Given the description of an element on the screen output the (x, y) to click on. 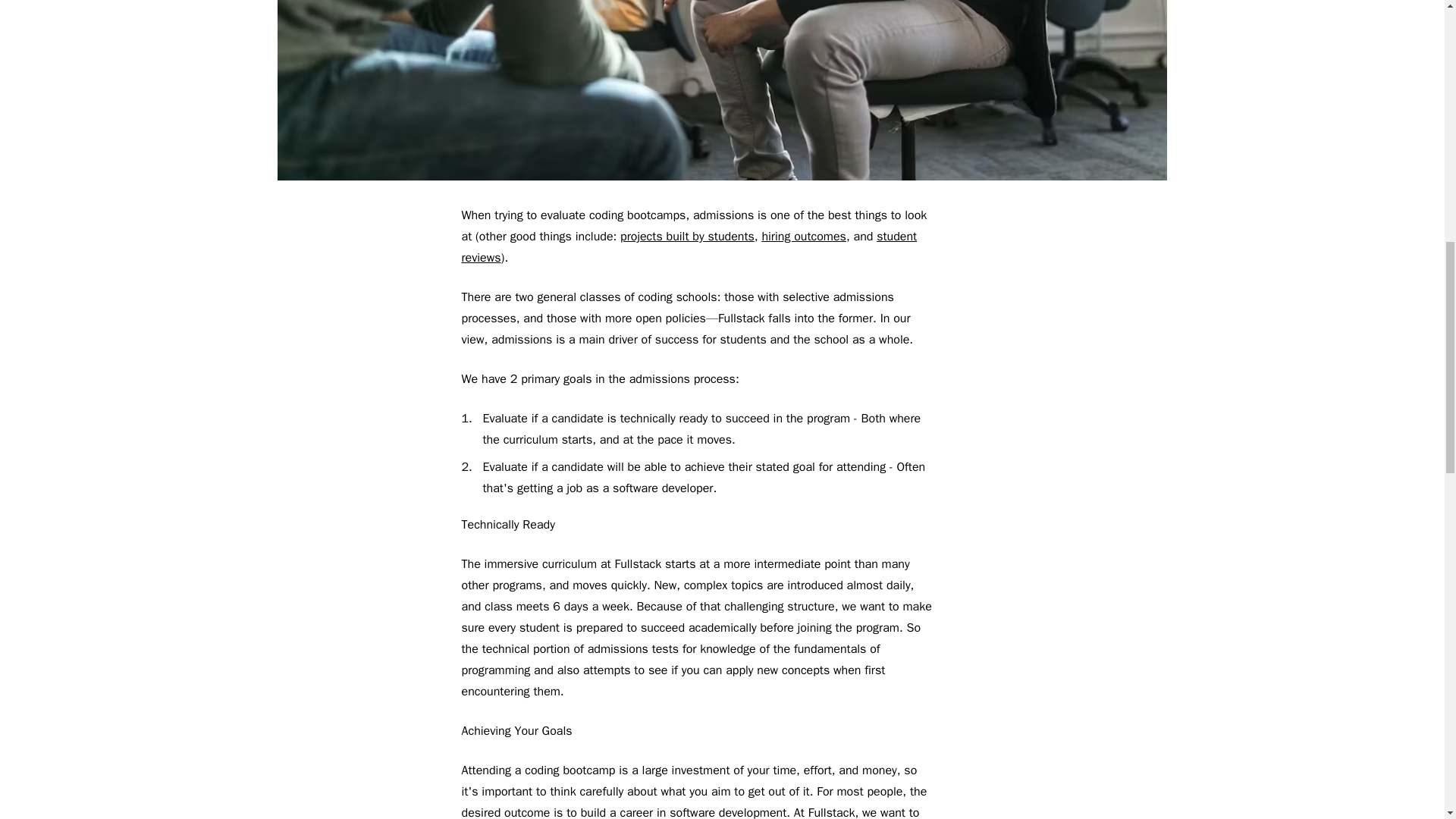
projects built by students (687, 236)
student reviews (689, 247)
hiring outcomes (803, 236)
